Given the description of an element on the screen output the (x, y) to click on. 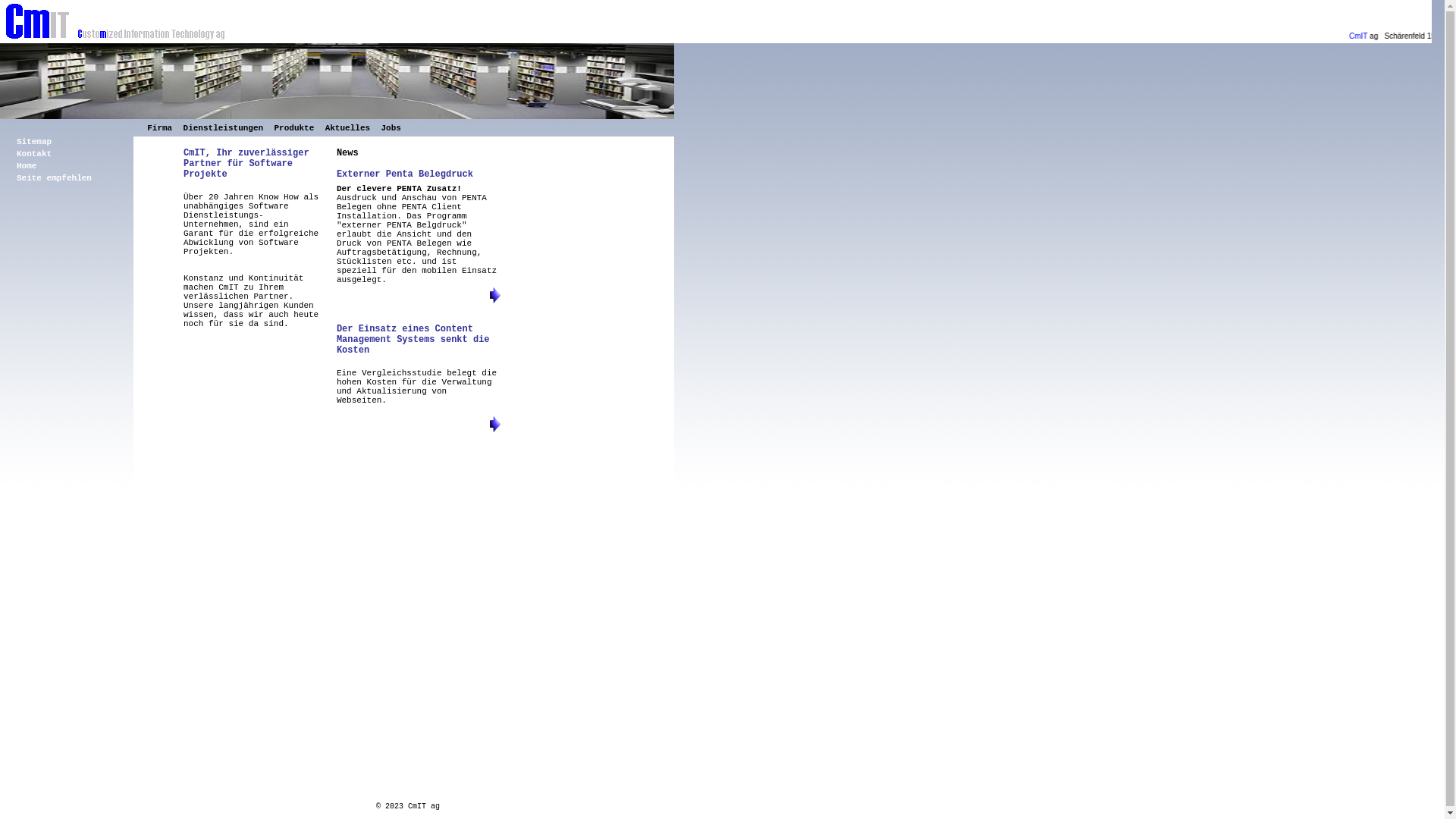
Produkte Element type: text (294, 126)
Jobs Element type: text (390, 126)
Sitemap Element type: text (33, 141)
Aktuelles Element type: text (347, 126)
Kontakt Element type: text (33, 153)
Dienstleistungen Element type: text (223, 126)
Home Element type: text (26, 165)
Firma Element type: text (159, 126)
Seite empfehlen Element type: text (53, 177)
